Given the description of an element on the screen output the (x, y) to click on. 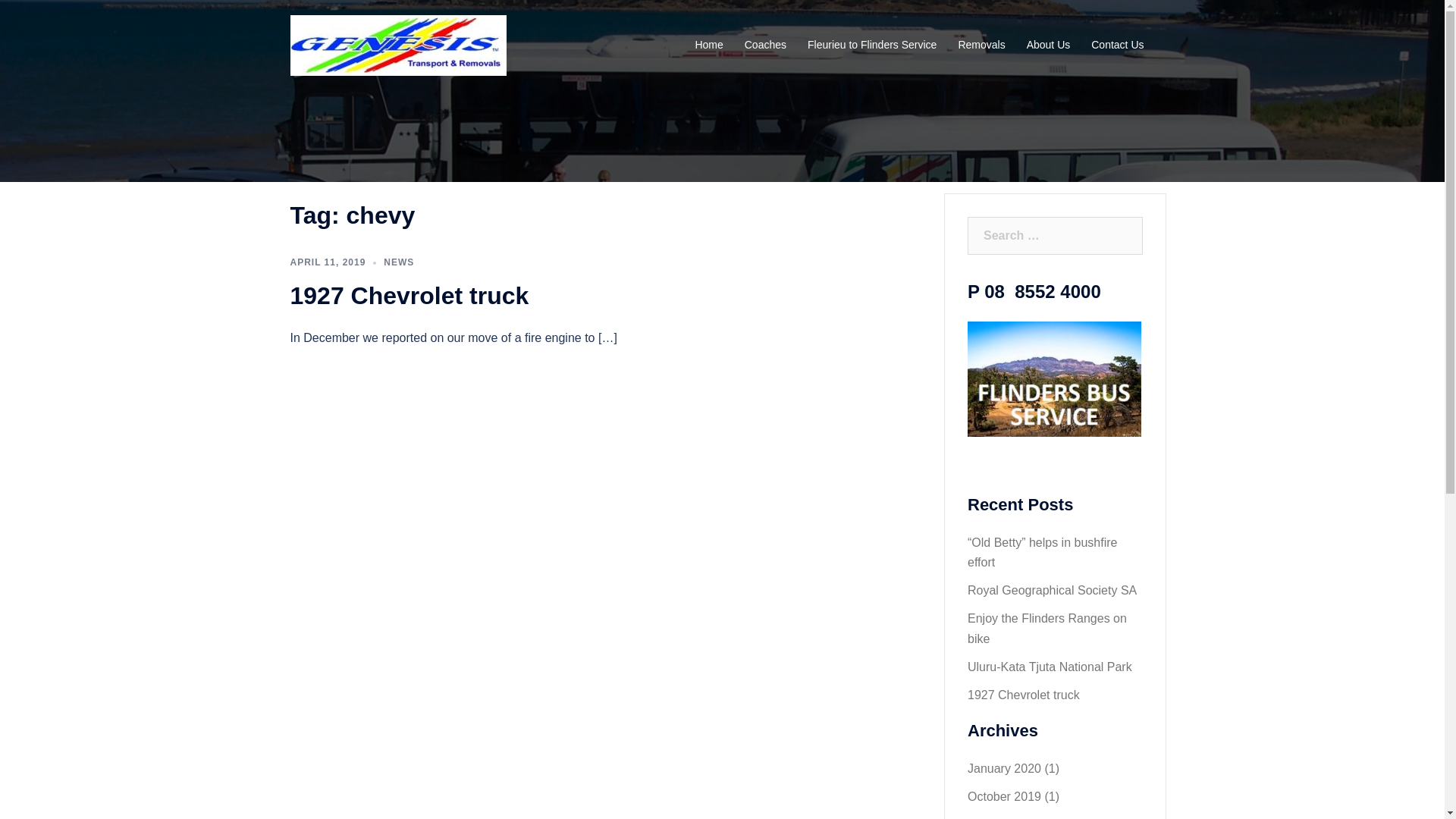
NEWS Element type: text (398, 262)
Contact Us Element type: text (1117, 45)
1927 Chevrolet truck Element type: text (1023, 694)
About Us Element type: text (1048, 45)
Royal Geographical Society SA Element type: text (1051, 589)
October 2019 Element type: text (1004, 796)
Genesis Transport & Removals Element type: hover (397, 43)
Removals Element type: text (980, 45)
Fleurieu to Flinders Service Element type: text (871, 45)
1927 Chevrolet truck Element type: text (408, 295)
January 2020 Element type: text (1004, 768)
Search Element type: text (49, 18)
Enjoy the Flinders Ranges on bike Element type: text (1046, 628)
APRIL 11, 2019 Element type: text (327, 262)
Coaches Element type: text (765, 45)
Home Element type: text (708, 45)
Uluru-Kata Tjuta National Park Element type: text (1049, 666)
